Given the description of an element on the screen output the (x, y) to click on. 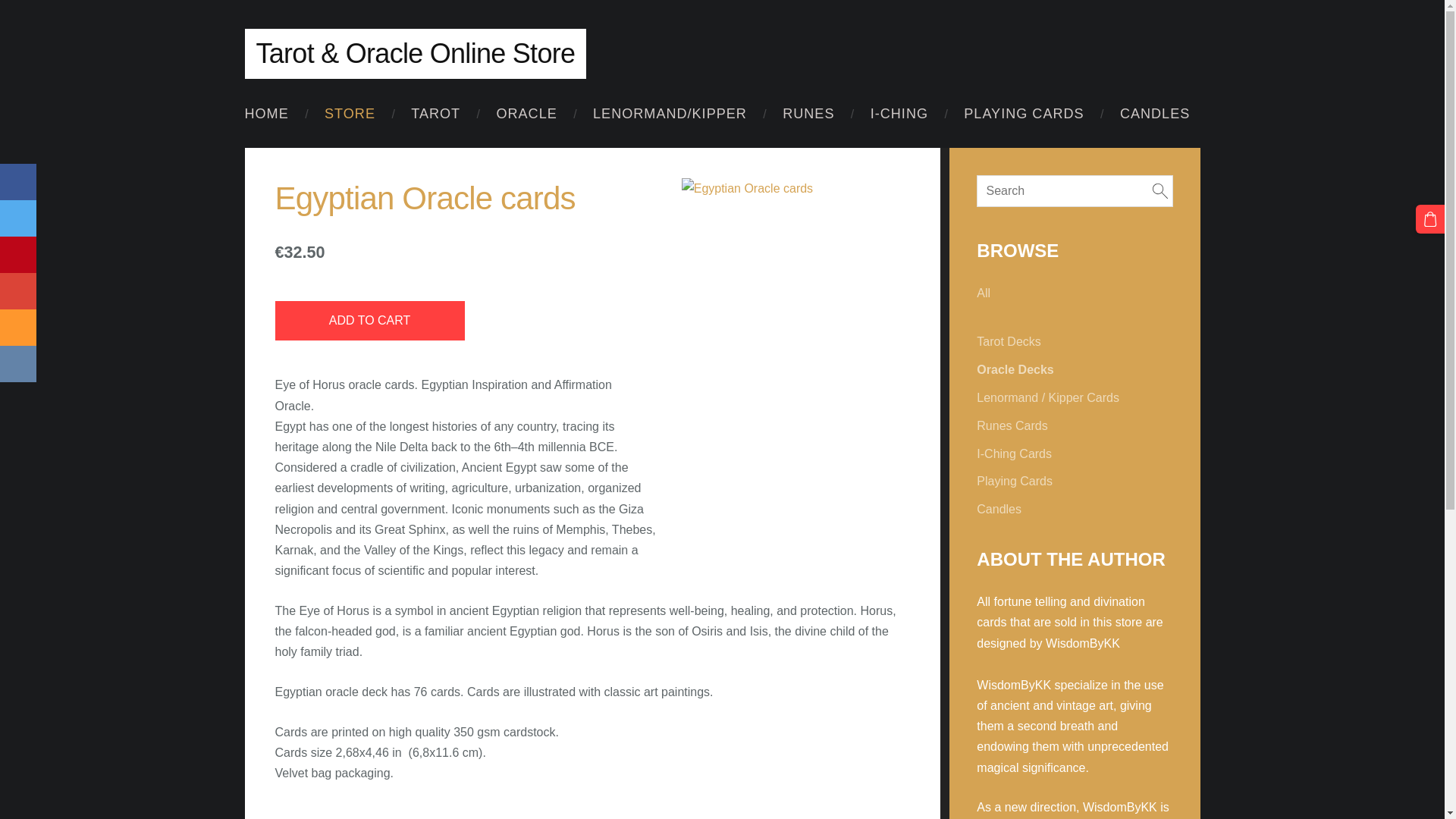
Pin (18, 254)
RUNES (808, 113)
Egyptian Oracle cards (857, 260)
Egyptian Oracle cards (796, 188)
Share (18, 327)
I-Ching Cards (1013, 453)
Share (18, 363)
PLAYING CARDS (1023, 113)
Tarot Decks (1008, 341)
Egyptian Oracle cards (735, 260)
